Given the description of an element on the screen output the (x, y) to click on. 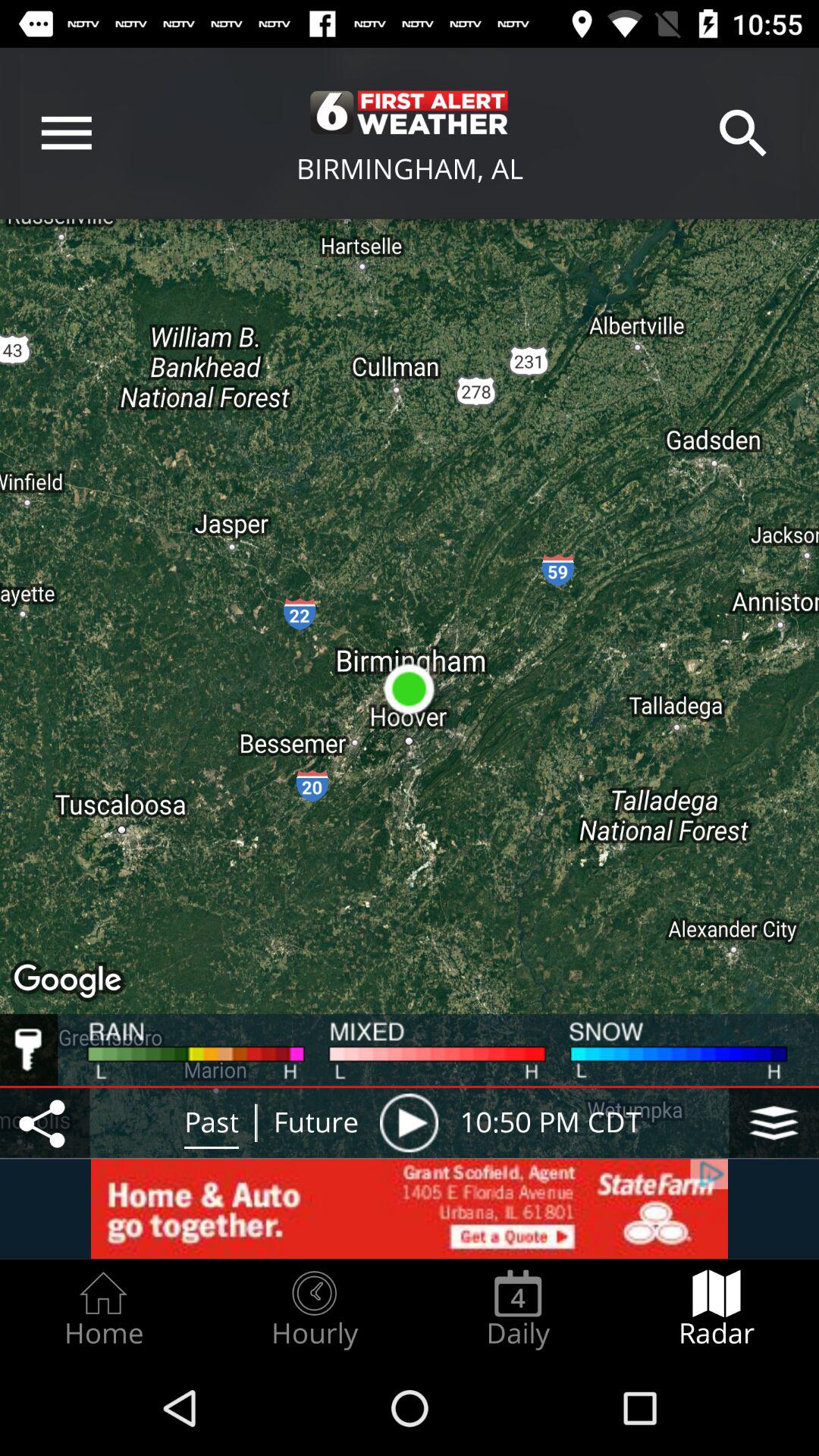
choose home icon (103, 1309)
